Given the description of an element on the screen output the (x, y) to click on. 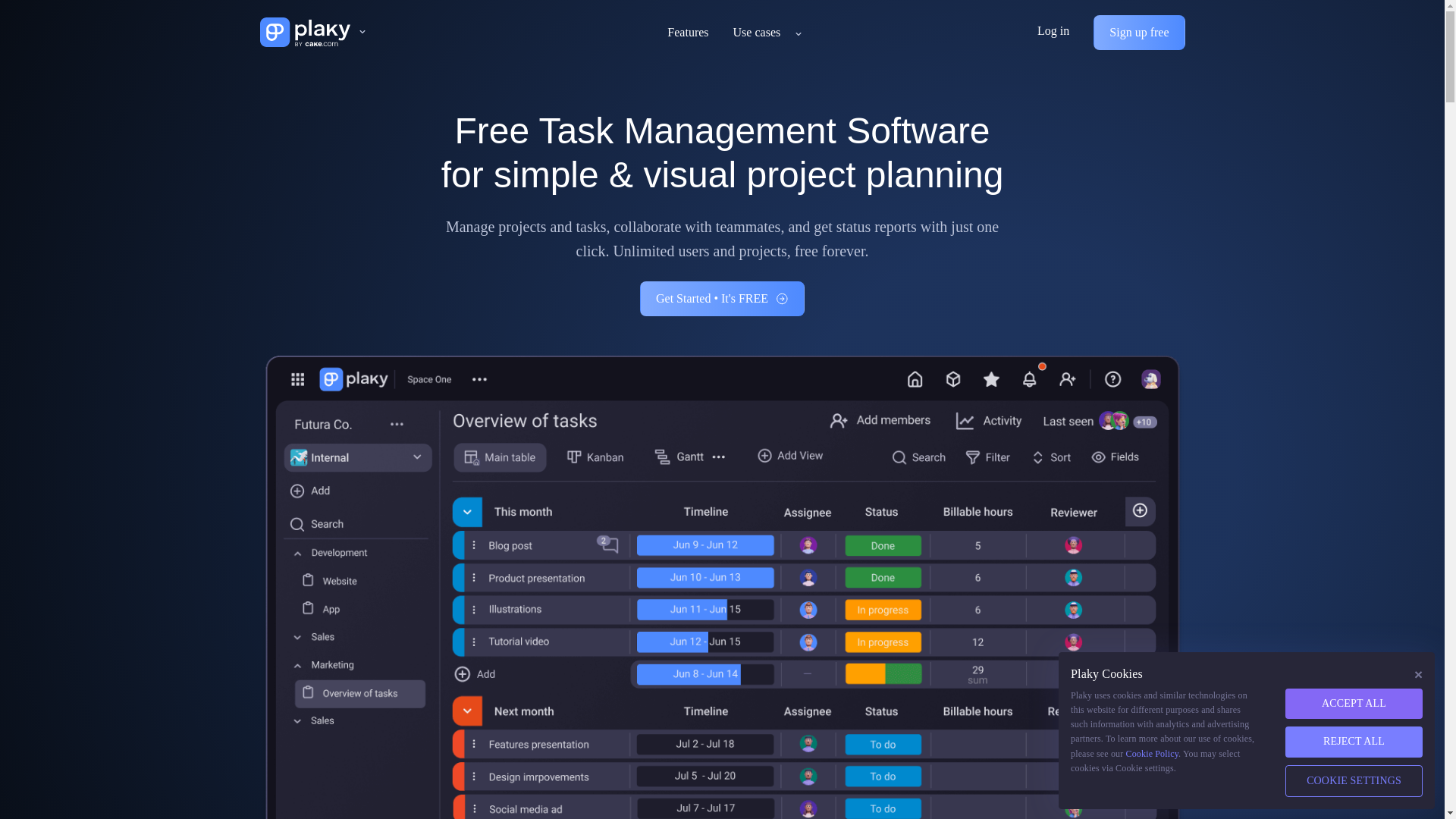
Log in (1053, 32)
Use cases (756, 32)
Sign up free (1139, 32)
Features (687, 32)
